Given the description of an element on the screen output the (x, y) to click on. 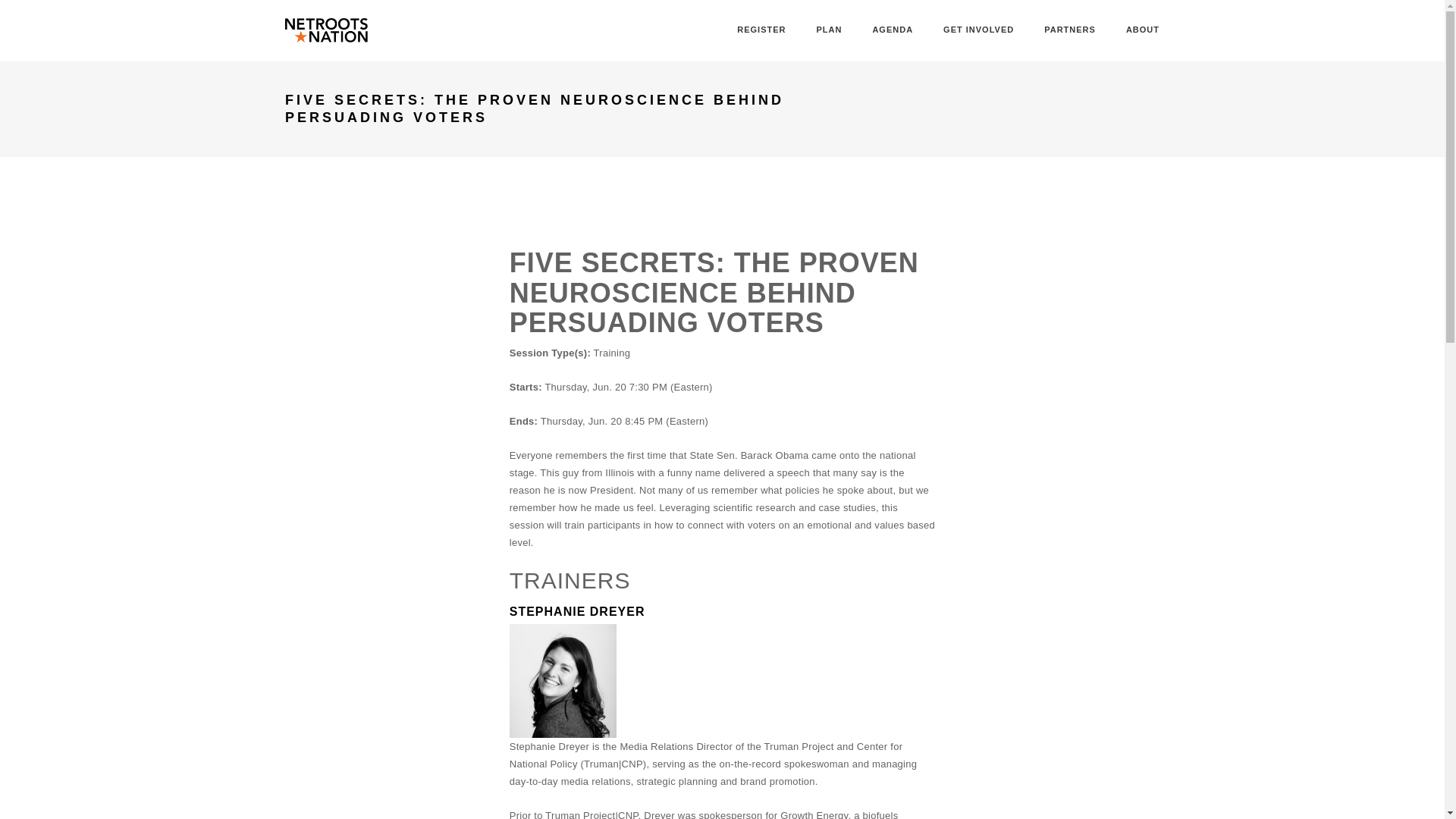
GET INVOLVED (978, 29)
PARTNERS (1069, 29)
PLAN (828, 29)
ABOUT (1141, 29)
AGENDA (892, 29)
REGISTER (761, 29)
STEPHANIE DREYER (577, 611)
